Given the description of an element on the screen output the (x, y) to click on. 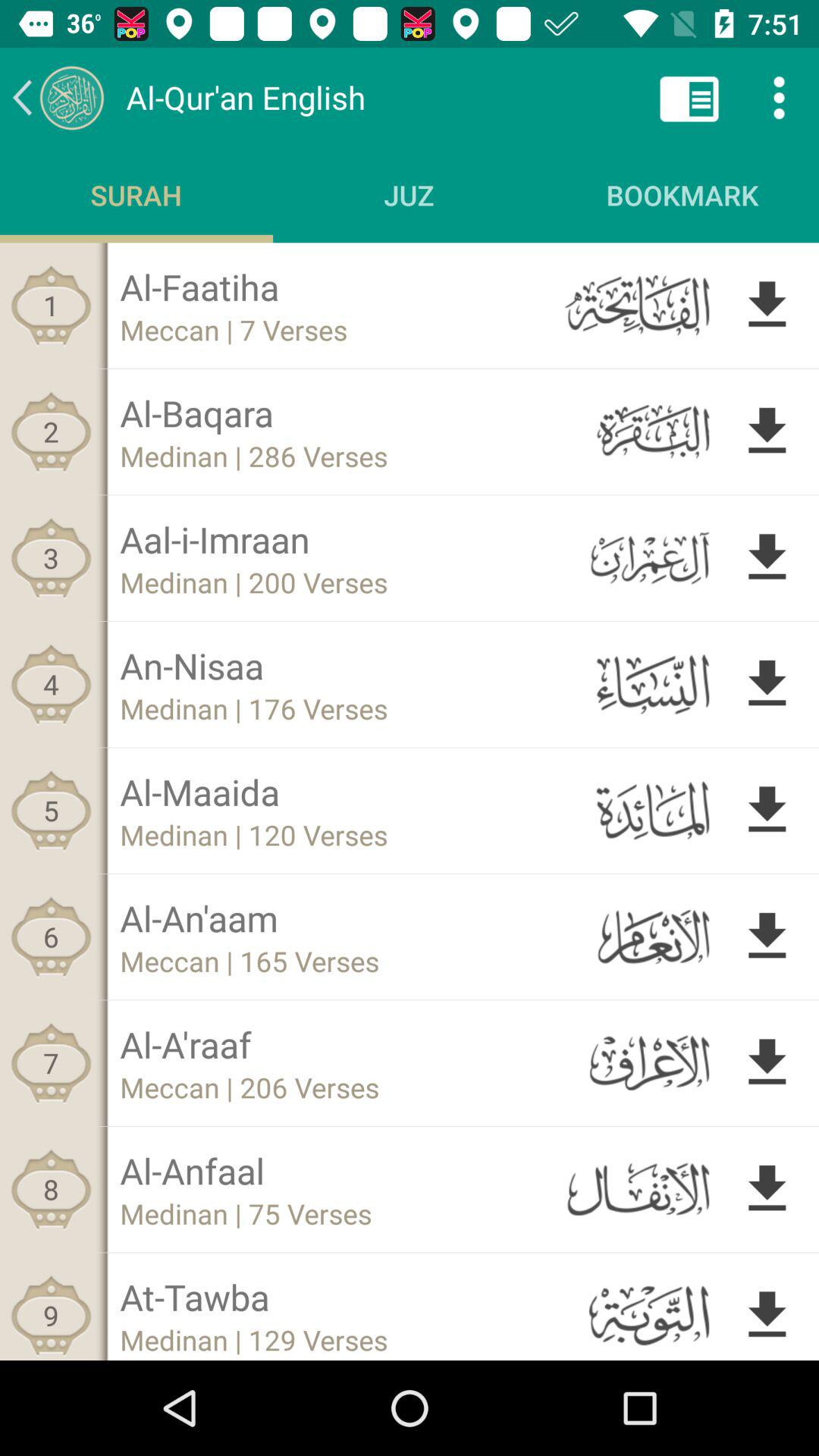
download (767, 305)
